Given the description of an element on the screen output the (x, y) to click on. 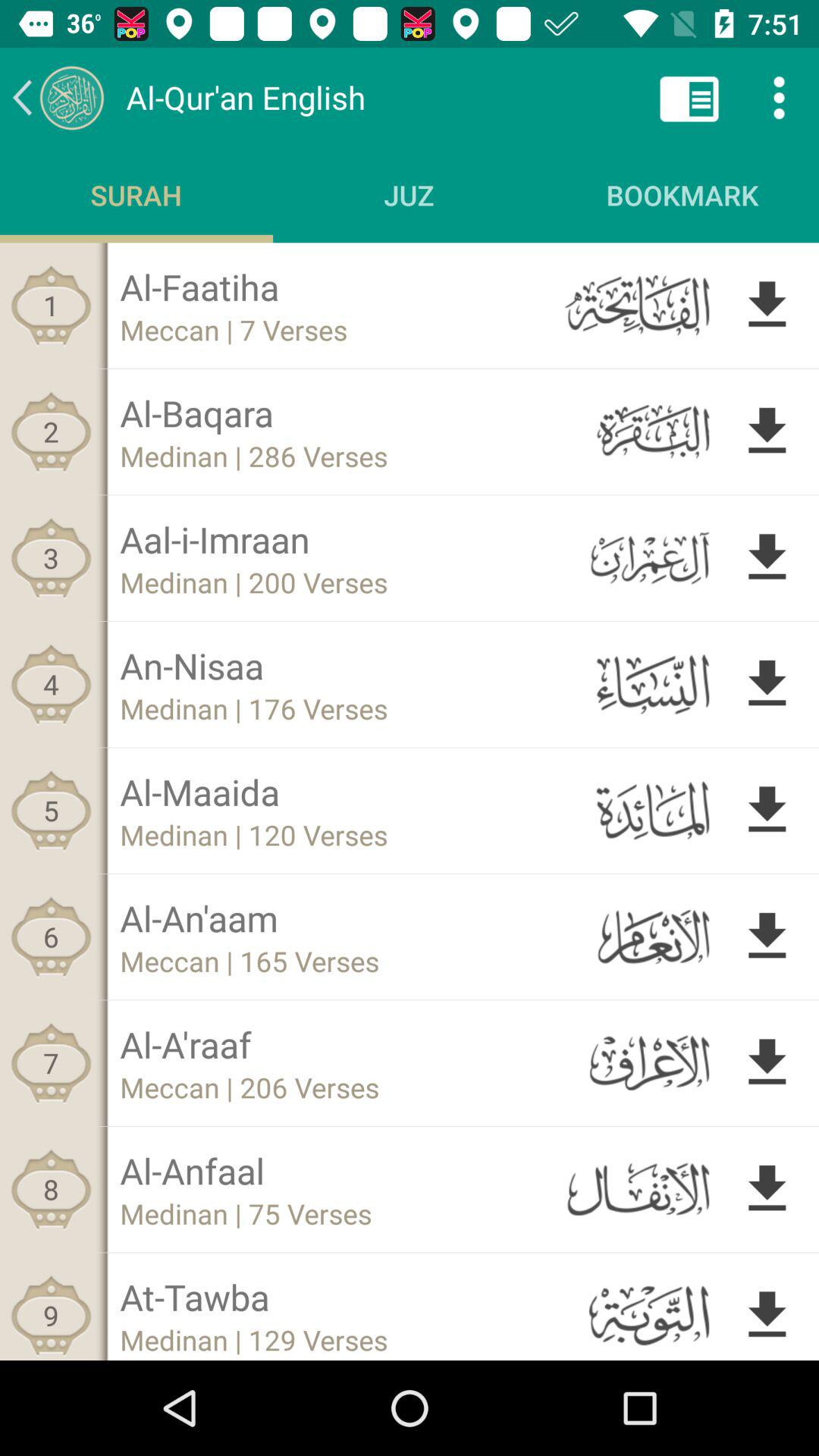
download (767, 305)
